Given the description of an element on the screen output the (x, y) to click on. 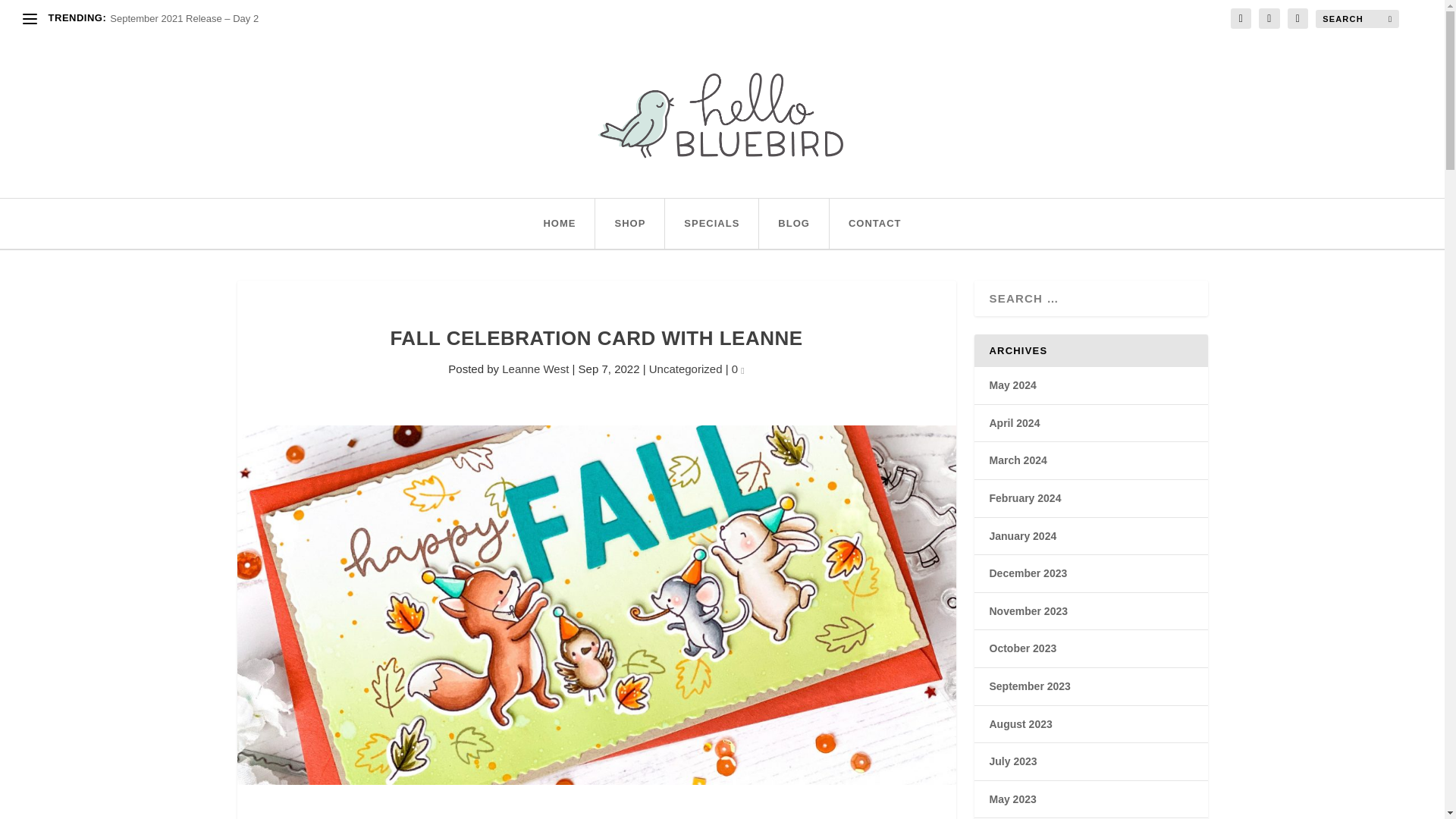
CONTACT (874, 223)
0 (738, 368)
BLOG (793, 223)
SPECIALS (711, 223)
SHOP (629, 223)
Posts by Leanne West (535, 368)
Leanne West (535, 368)
HOME (559, 223)
Search for: (1357, 18)
Uncategorized (685, 368)
